Given the description of an element on the screen output the (x, y) to click on. 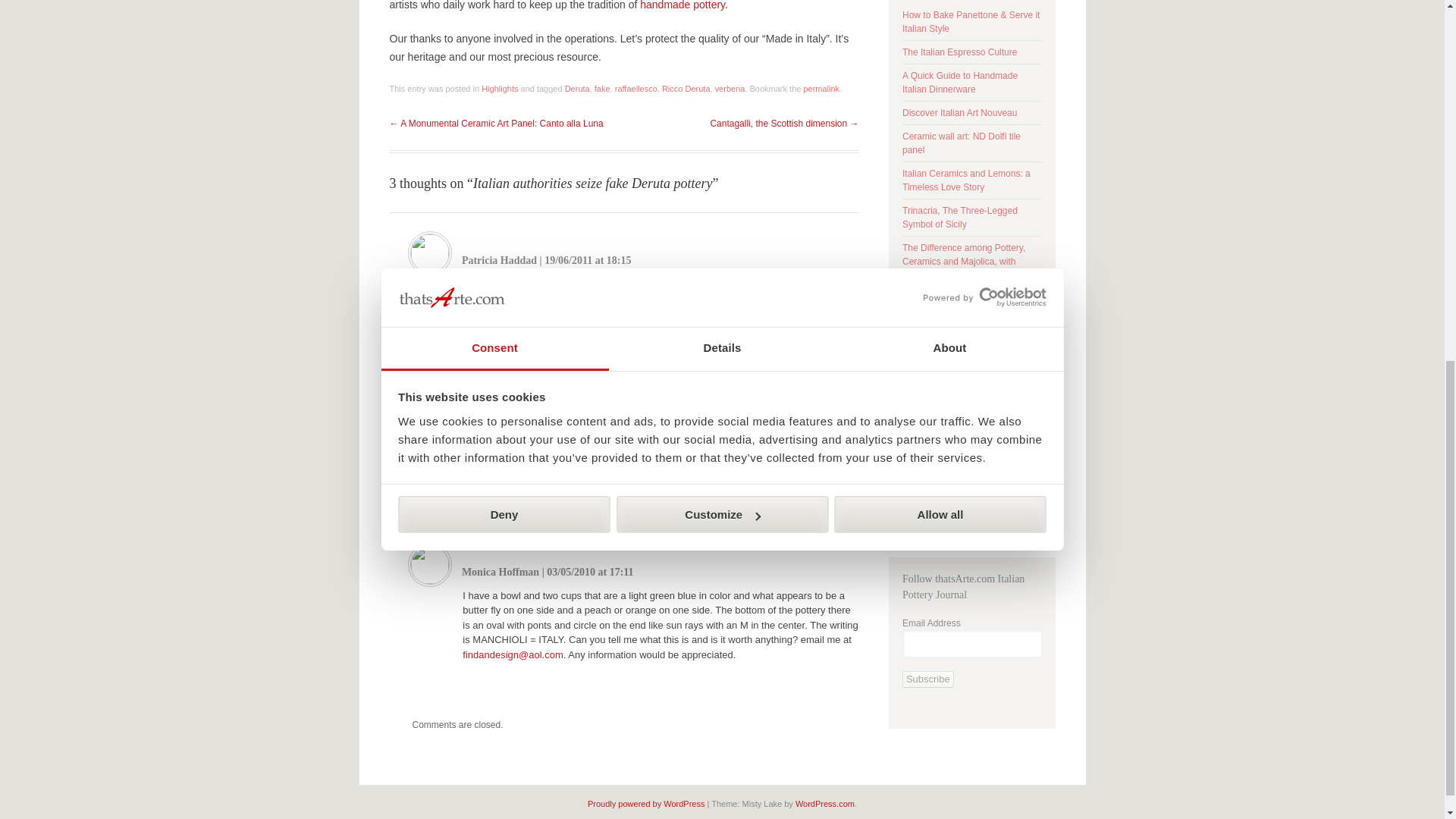
Subscribe (927, 679)
